Given the description of an element on the screen output the (x, y) to click on. 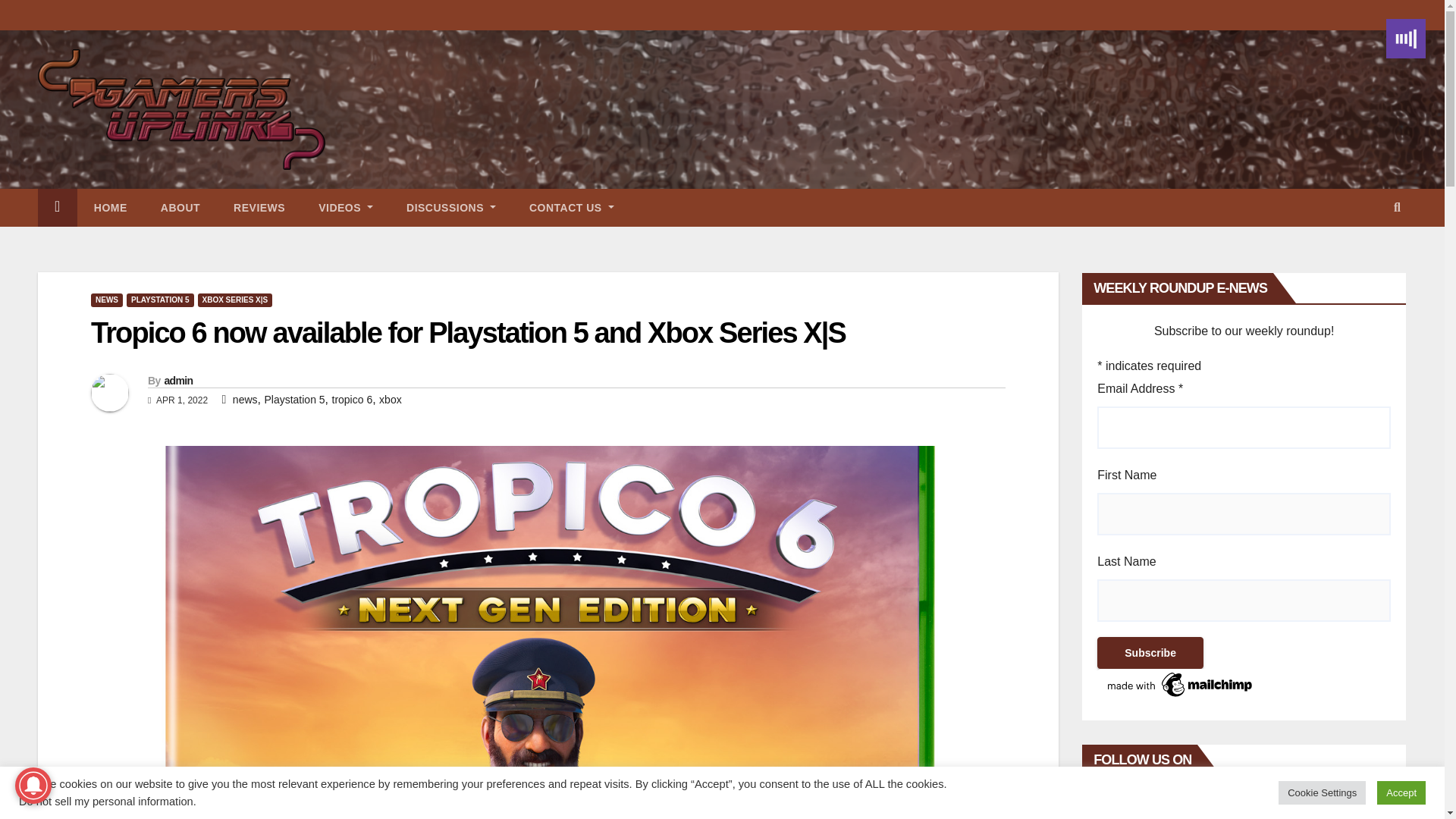
About (180, 207)
REVIEWS (258, 207)
Contact Us (571, 207)
Playstation 5 (293, 399)
NEWS (106, 300)
tropico 6 (351, 399)
HOME (110, 207)
DISCUSSIONS (451, 207)
PLAYSTATION 5 (159, 300)
Reviews (258, 207)
Advertisement (650, 109)
admin (177, 380)
VIDEOS (345, 207)
Home (110, 207)
xbox (389, 399)
